Given the description of an element on the screen output the (x, y) to click on. 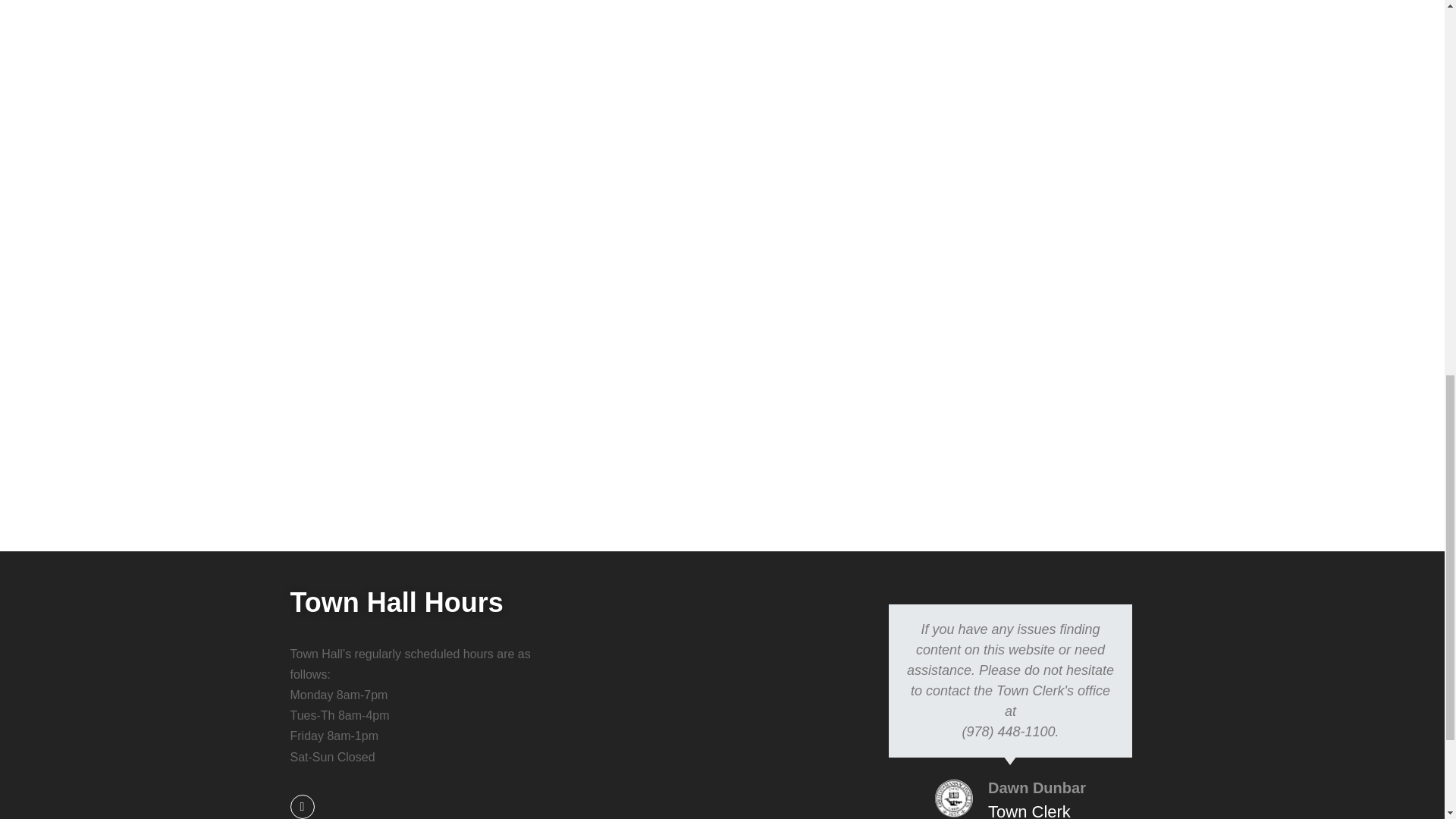
173 Main St. Groton, MA 01450 (722, 682)
